Given the description of an element on the screen output the (x, y) to click on. 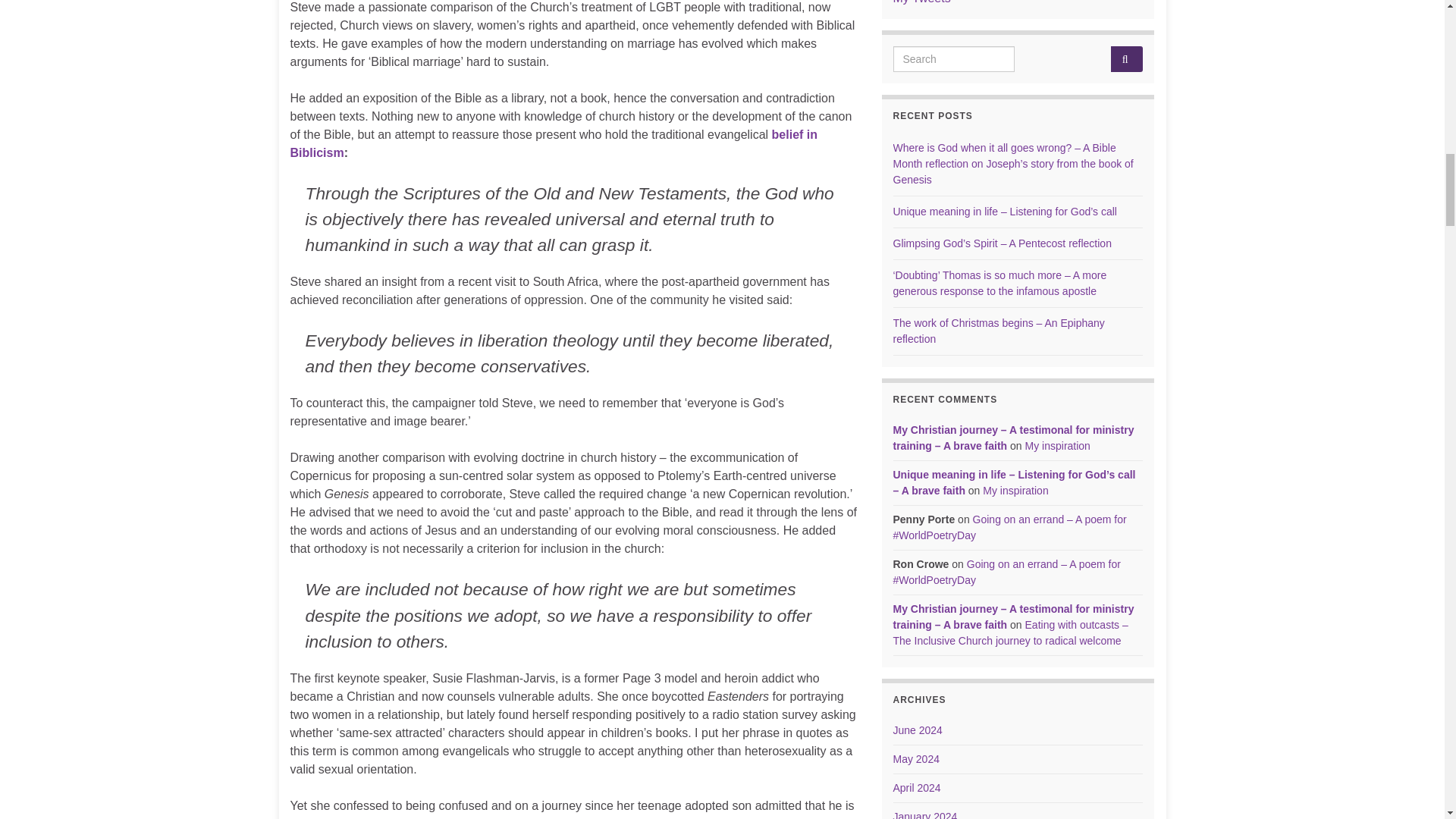
belief in Biblicism (552, 142)
